Given the description of an element on the screen output the (x, y) to click on. 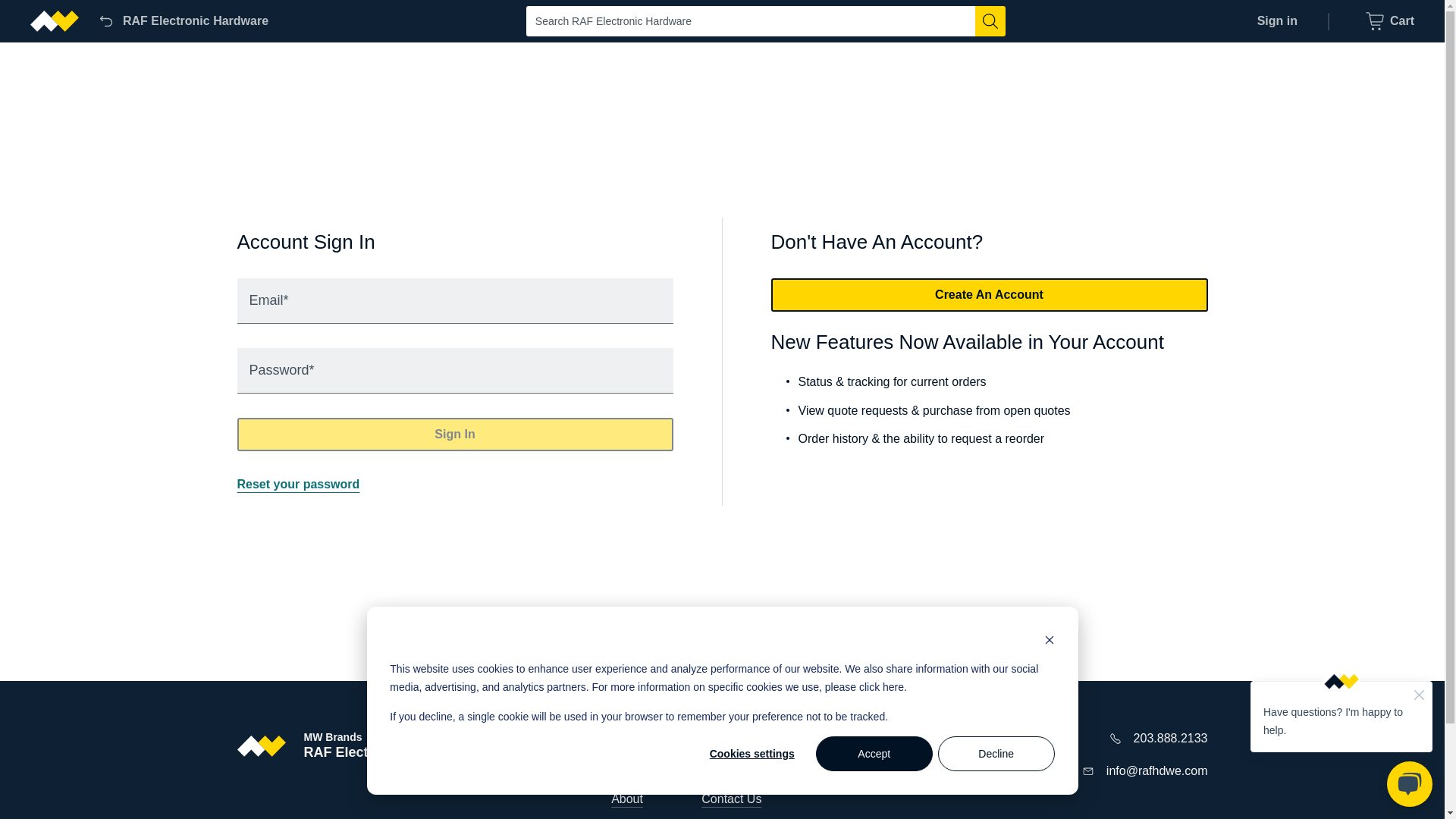
Create An Account (988, 295)
Distributors (731, 738)
About (627, 798)
Sign In (453, 434)
Submit (990, 20)
RAF Electronic Hardware (182, 21)
Home (627, 738)
Products (1390, 21)
Reset your password (635, 768)
Sign in (297, 483)
